Given the description of an element on the screen output the (x, y) to click on. 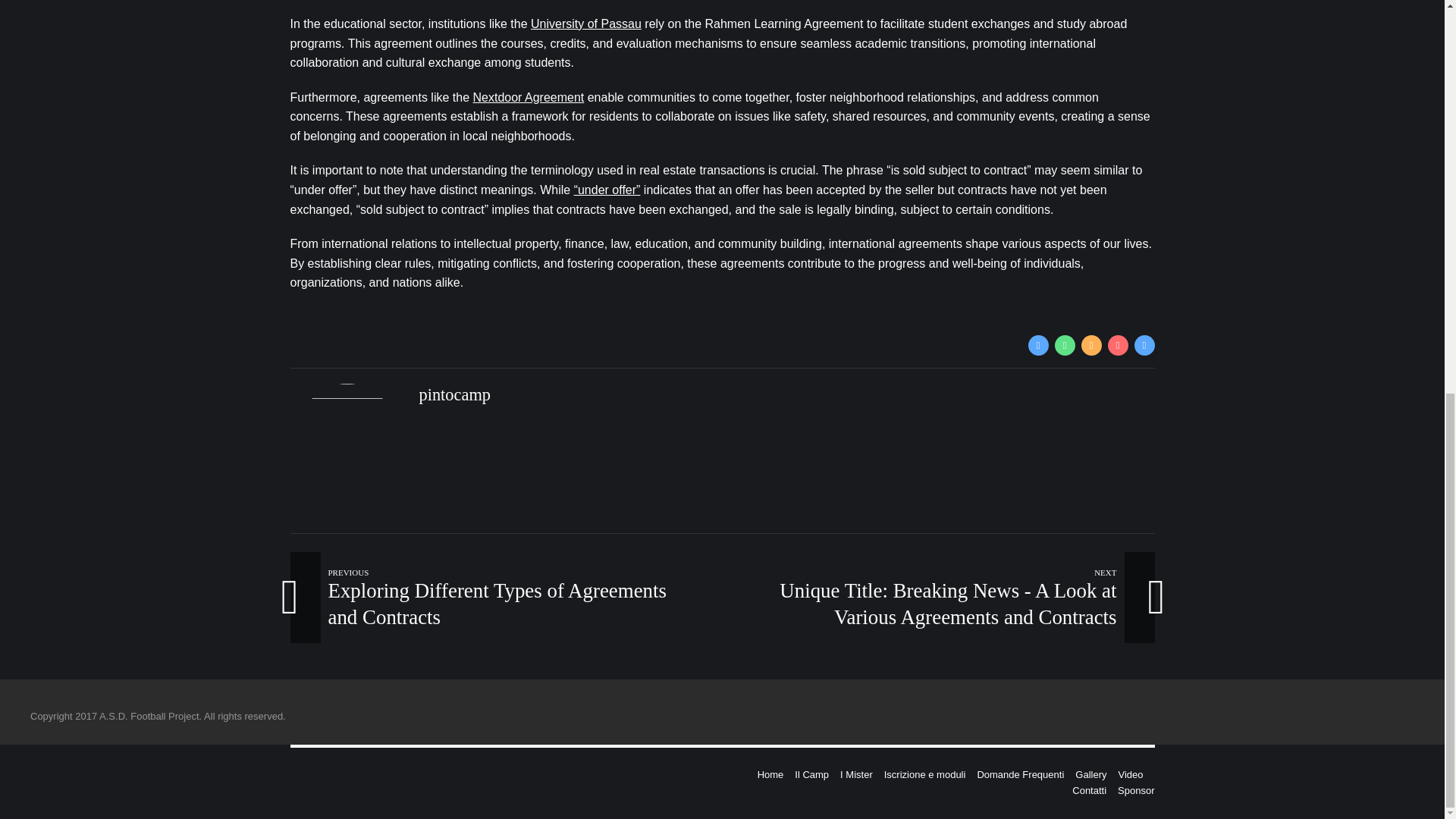
Gallery (1090, 774)
Domande Frequenti (1020, 774)
Nextdoor Agreement (529, 97)
Iscrizione e moduli (924, 774)
I Mister (856, 774)
University of Passau (586, 23)
Home (770, 774)
Il Camp (811, 774)
